Given the description of an element on the screen output the (x, y) to click on. 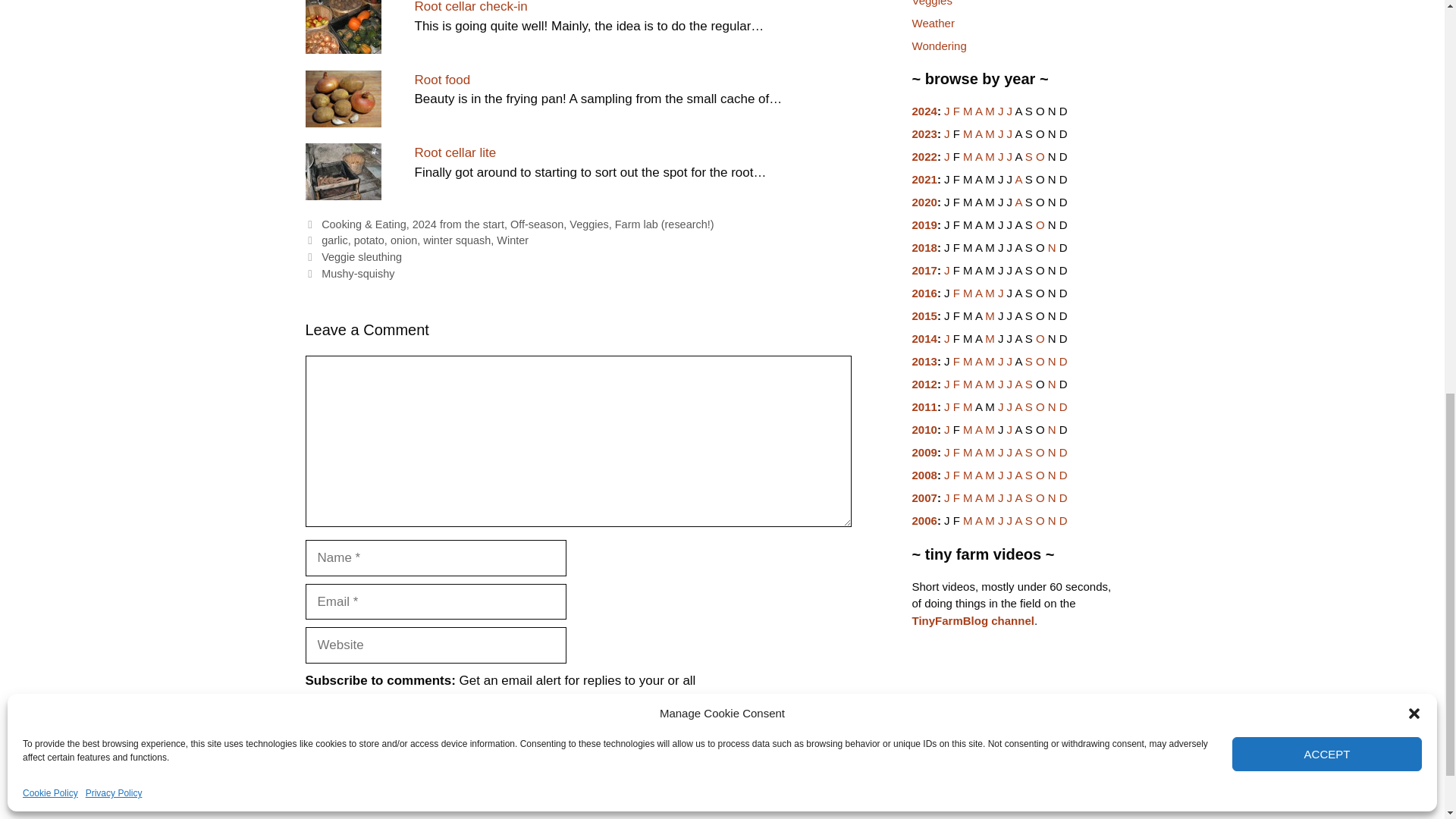
Root food (441, 79)
winter squash (456, 240)
potato (368, 240)
onion (403, 240)
garlic (334, 240)
Veggies (588, 224)
Off-season (537, 224)
Post Comment (360, 757)
Winter (512, 240)
Root cellar lite (454, 152)
2024 from the start (457, 224)
Root cellar check-in (470, 6)
